Given the description of an element on the screen output the (x, y) to click on. 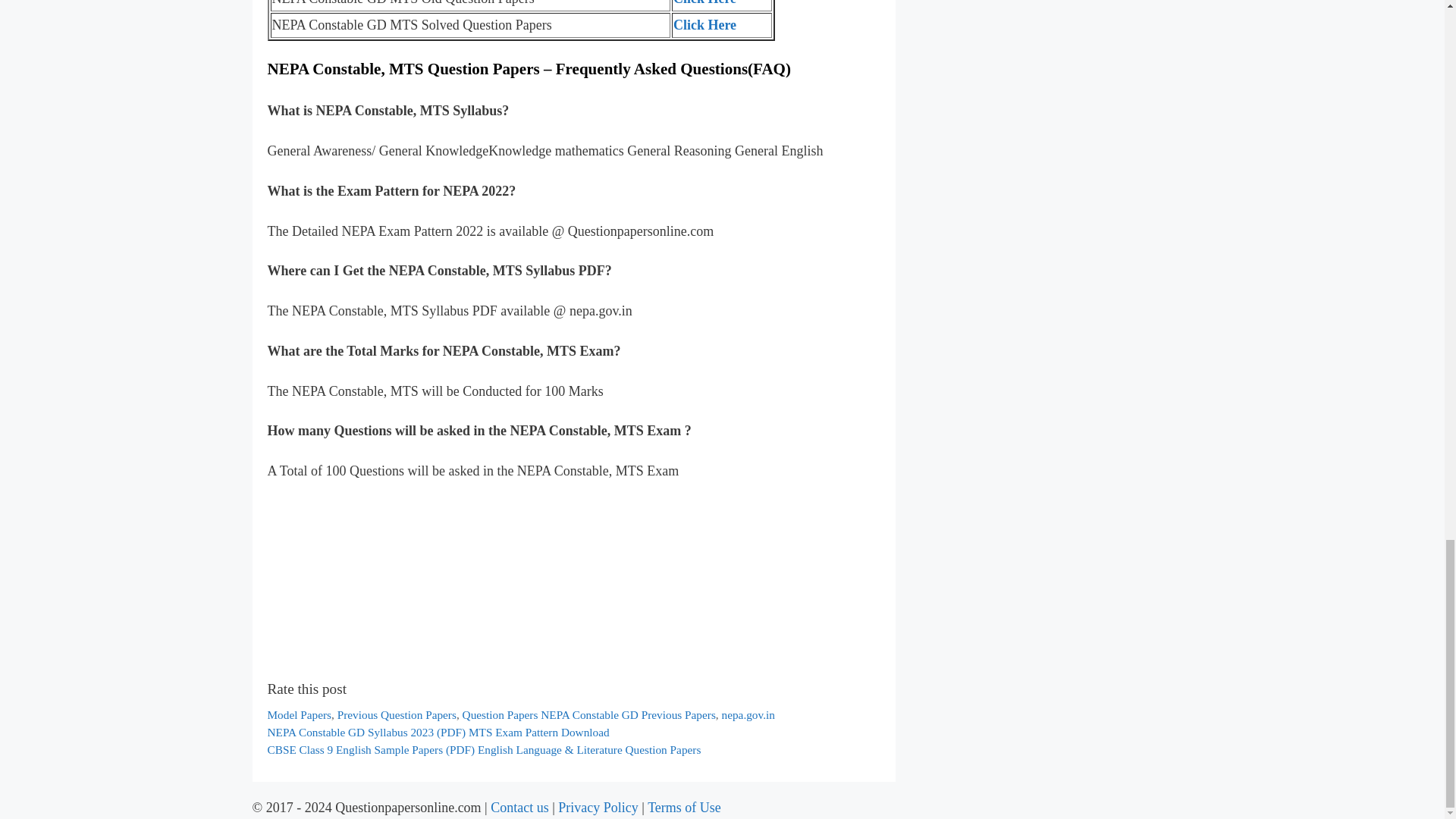
Click Here (704, 24)
Model Papers (298, 714)
Click Here (704, 2)
Previous Question Papers (397, 714)
NEPA Constable GD Previous Papers (628, 714)
nepa.gov.in (748, 714)
Question Papers (500, 714)
